Given the description of an element on the screen output the (x, y) to click on. 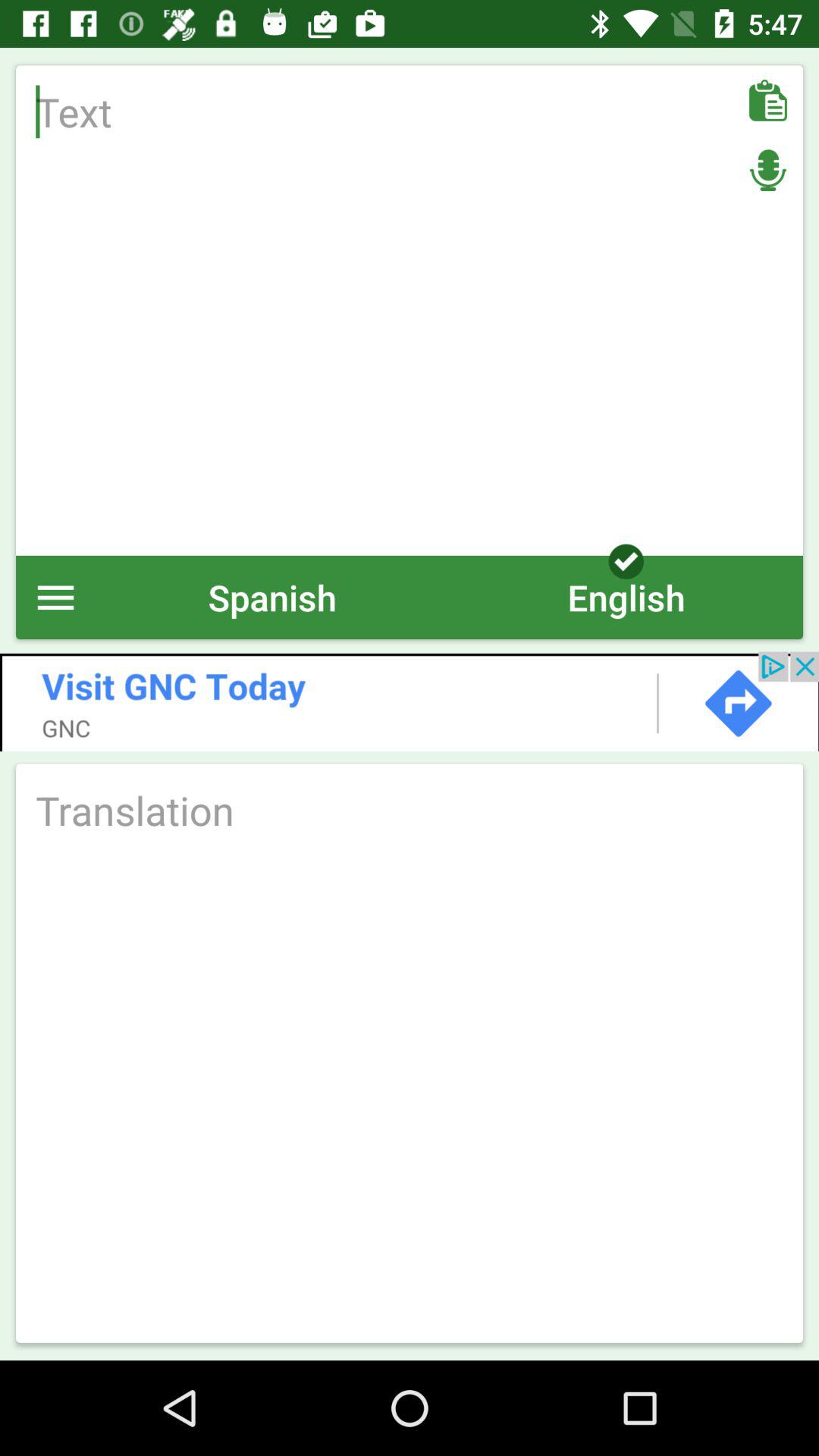
menu (55, 597)
